Given the description of an element on the screen output the (x, y) to click on. 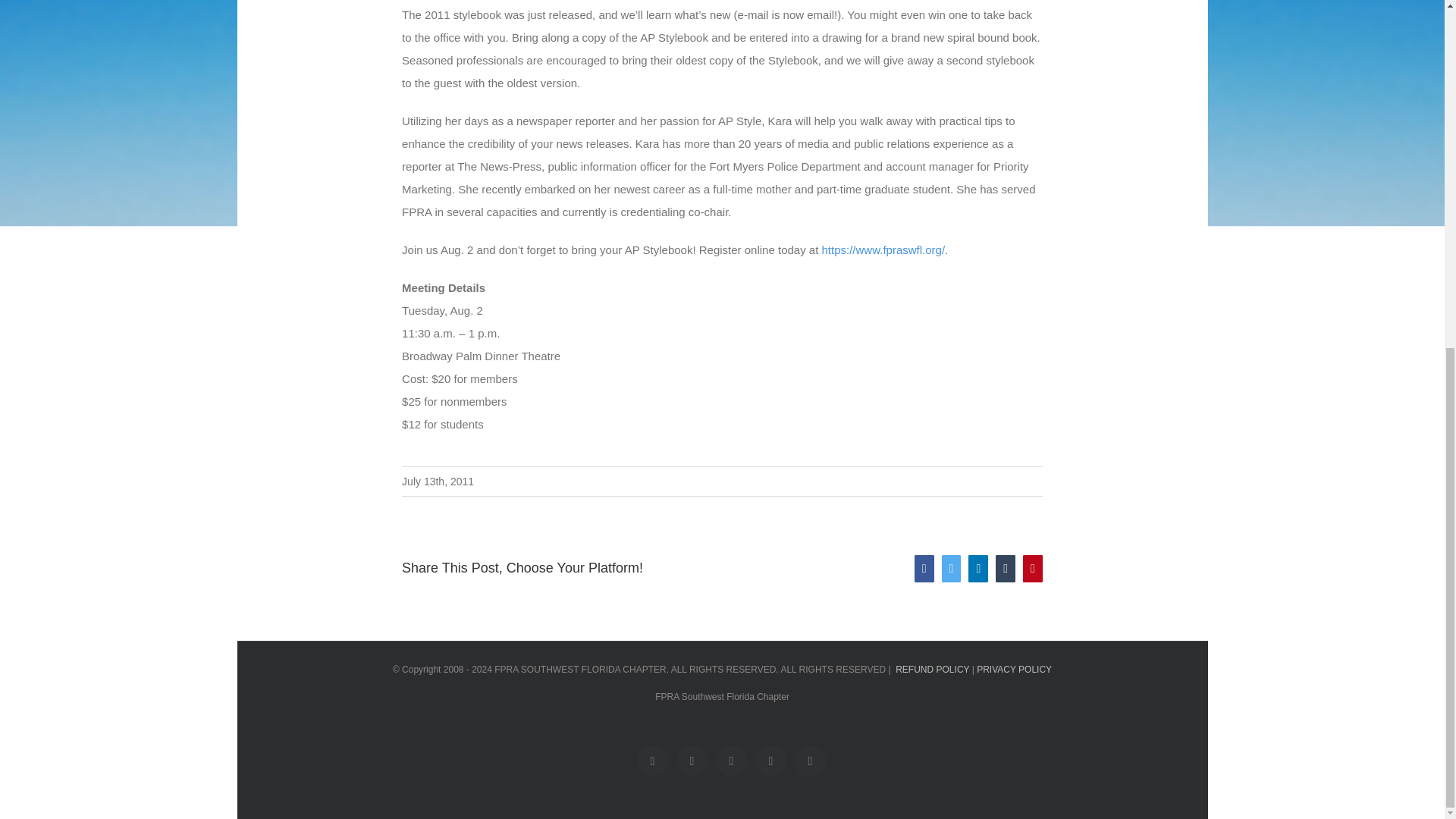
YouTube (771, 761)
Facebook (652, 761)
LinkedIn (732, 761)
Instagram (810, 761)
Twitter (692, 761)
